Given the description of an element on the screen output the (x, y) to click on. 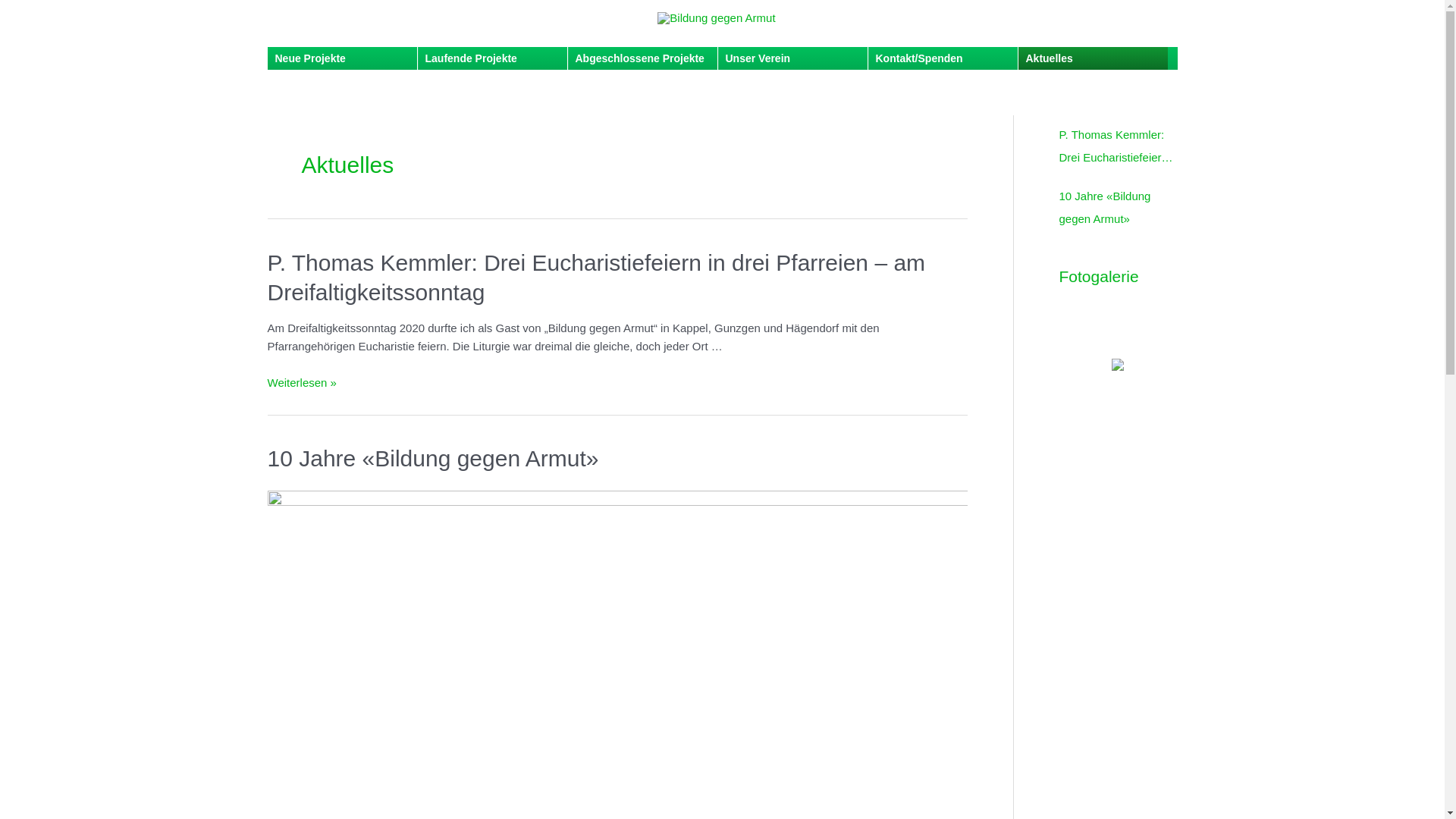
Unser Verein Element type: text (791, 58)
Laufende Projekte Element type: text (491, 58)
Aktuelles Element type: text (1092, 58)
Fotogalerie Element type: text (1098, 276)
Abgeschlossene Projekte Element type: text (641, 58)
Kontakt/Spenden Element type: text (941, 58)
Neue Projekte Element type: text (341, 58)
